Given the description of an element on the screen output the (x, y) to click on. 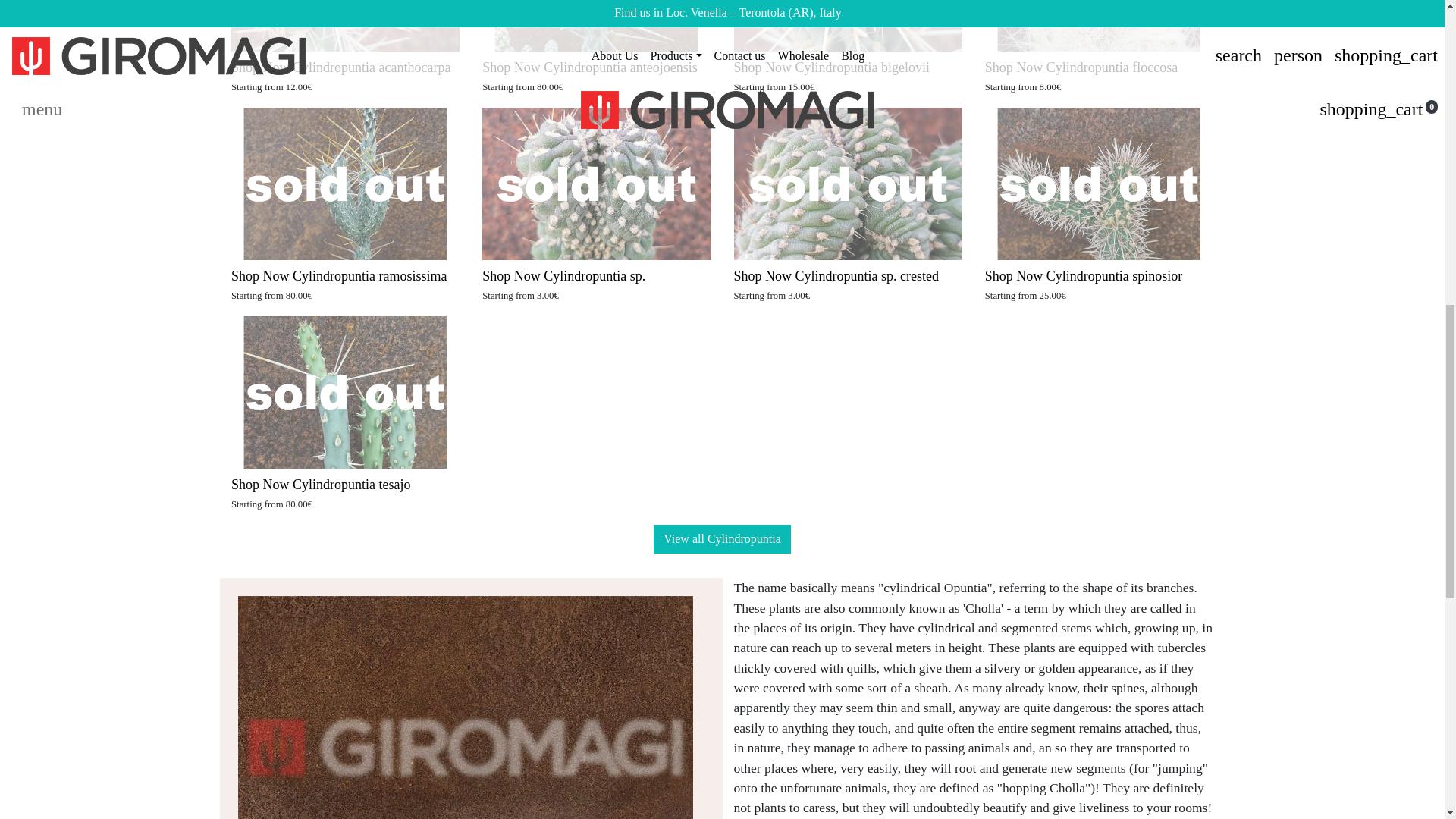
Shop Now Cylindropuntia acanthocarpa (340, 67)
Shop Now Cylindropuntia anteojoensis (589, 67)
Shop Now Cylindropuntia floccosa (1081, 67)
Shop Now Cylindropuntia bigelovii (831, 67)
